Given the description of an element on the screen output the (x, y) to click on. 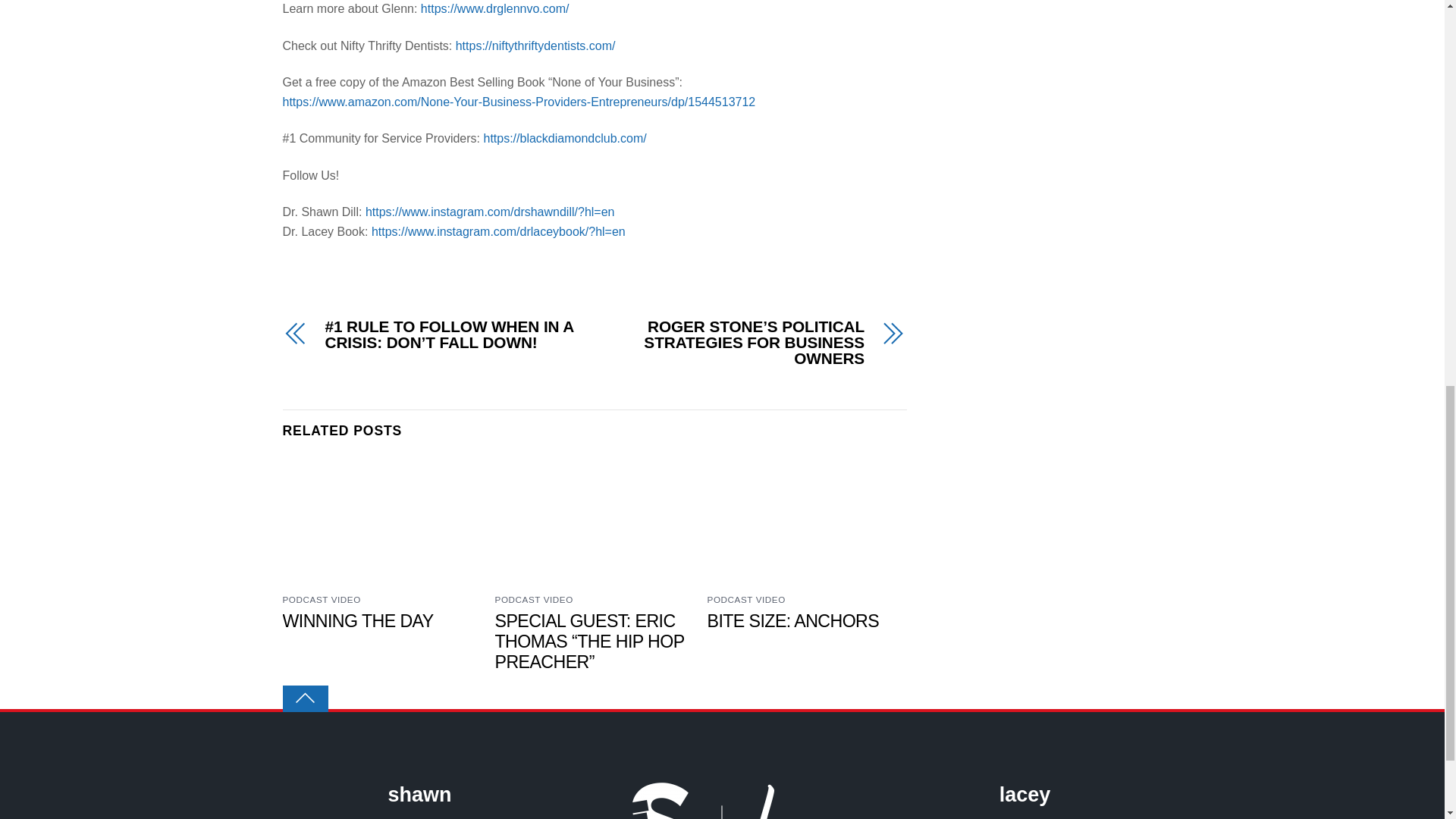
WINNING THE DAY (357, 620)
PODCAST VIDEO (320, 599)
BITE SIZE: ANCHORS (793, 620)
PODCAST VIDEO (746, 599)
BITE SIZE: ANCHORS (793, 620)
WINNING THE DAY (357, 620)
PODCAST VIDEO (534, 599)
